Given the description of an element on the screen output the (x, y) to click on. 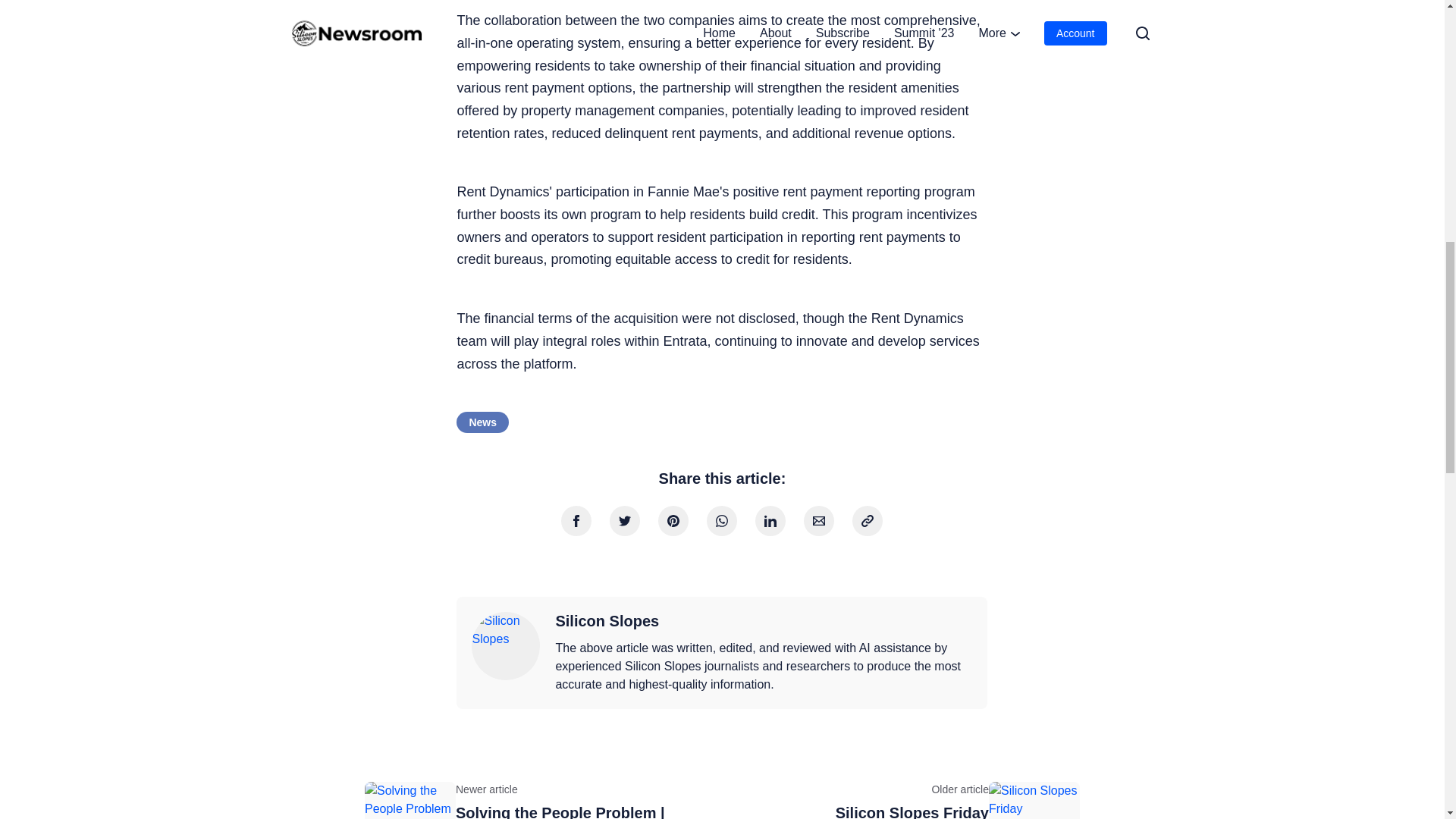
Share on Twitter (625, 521)
Copy the permalink (866, 521)
News (482, 422)
Share on Facebook (575, 521)
Send via email (818, 521)
Share on Linkedin (770, 521)
Share on Pinterest (673, 521)
Silicon Slopes (505, 645)
Silicon Slopes (606, 621)
